Given the description of an element on the screen output the (x, y) to click on. 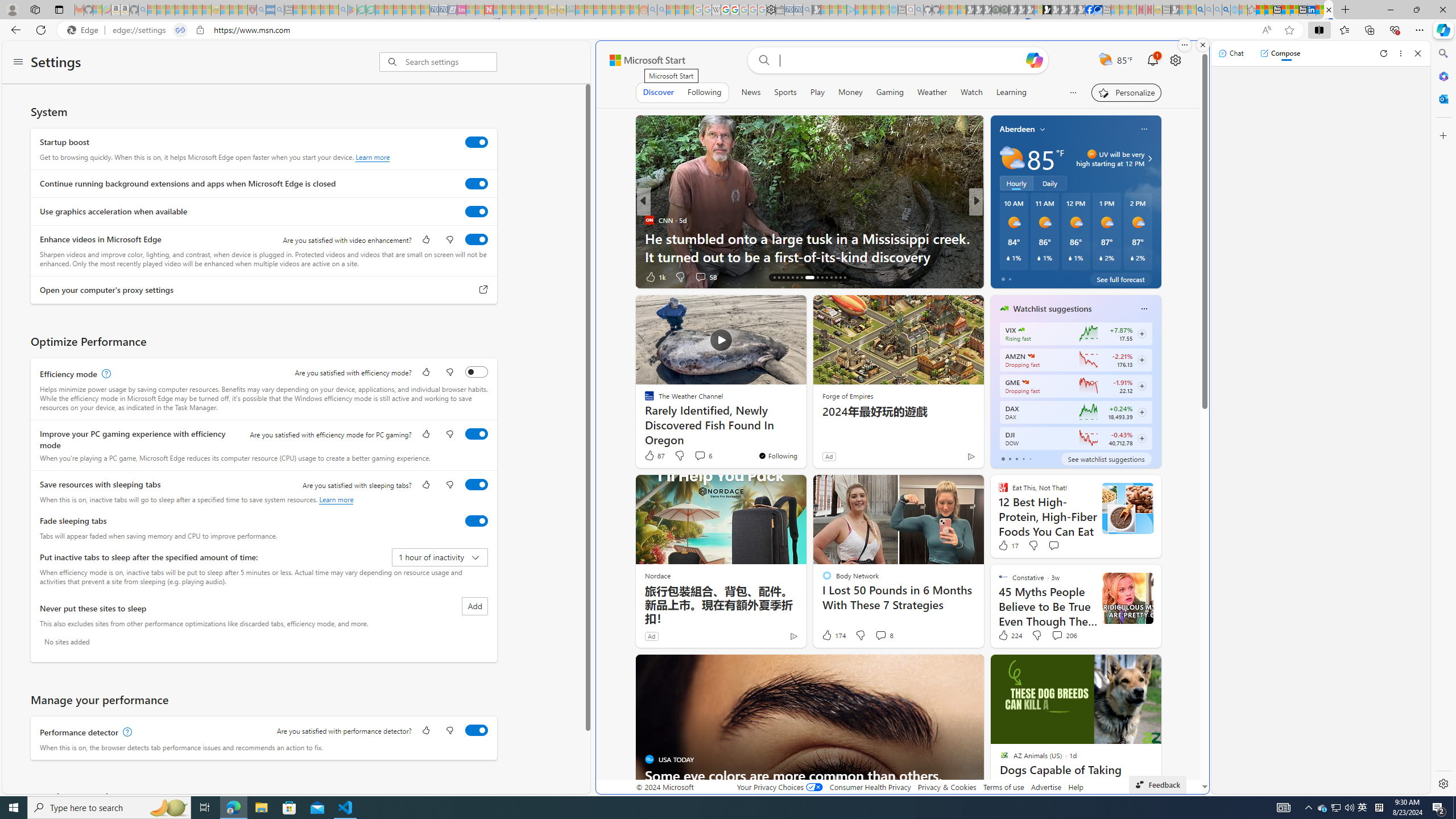
tab-3 (1022, 458)
AutomationID: tab-29 (840, 277)
Recipes - MSN - Sleeping (224, 9)
354 Like (1007, 276)
Sports (785, 92)
1k Like (654, 276)
github - Search - Sleeping (919, 9)
Hourly (1015, 183)
10 BIGGEST Underwater Creatures In The World (463, 256)
26 Real Tips That Helped Me Lose 100 Pounds (1159, 256)
